Given the description of an element on the screen output the (x, y) to click on. 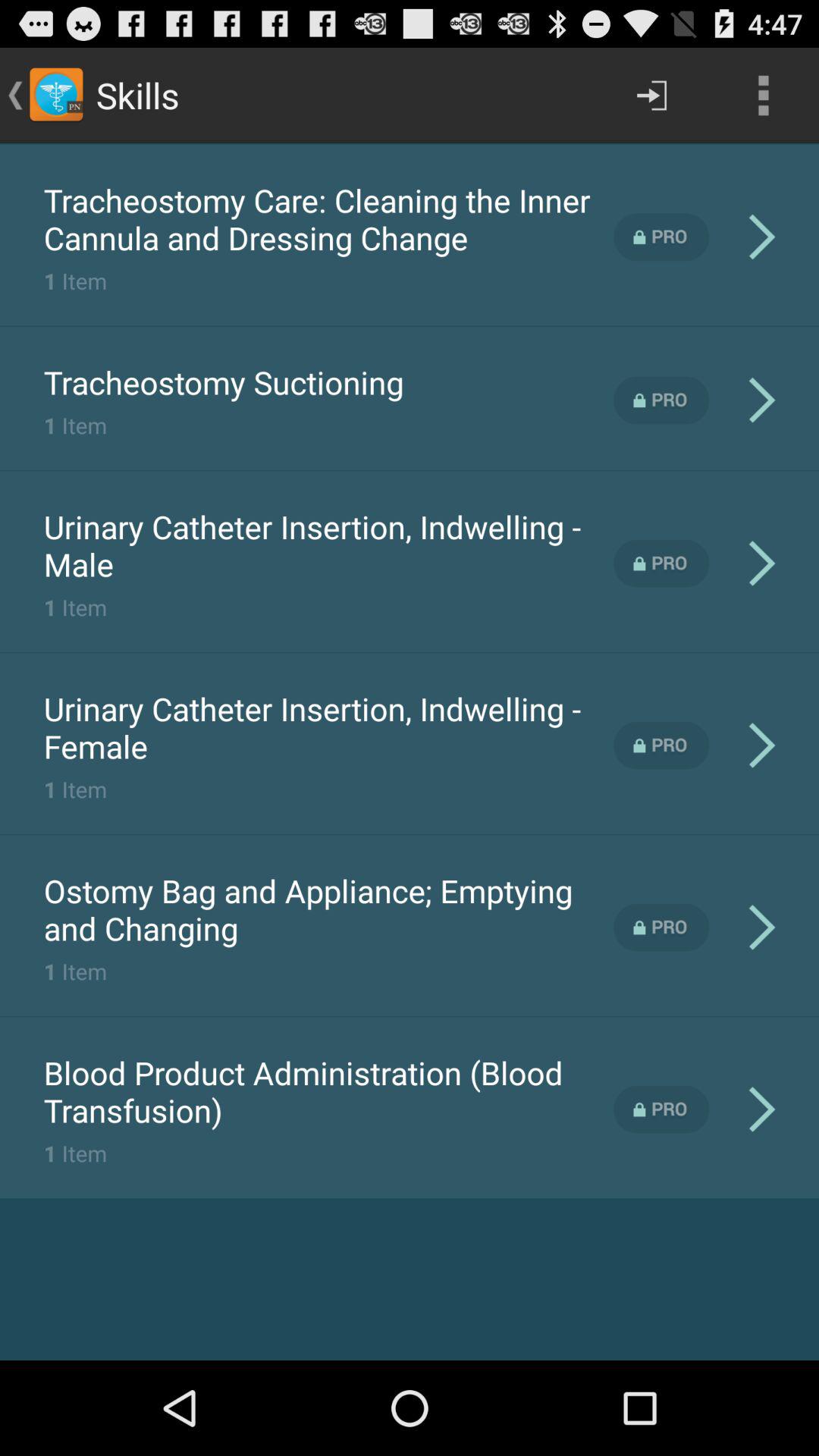
veirify pro option (661, 927)
